Given the description of an element on the screen output the (x, y) to click on. 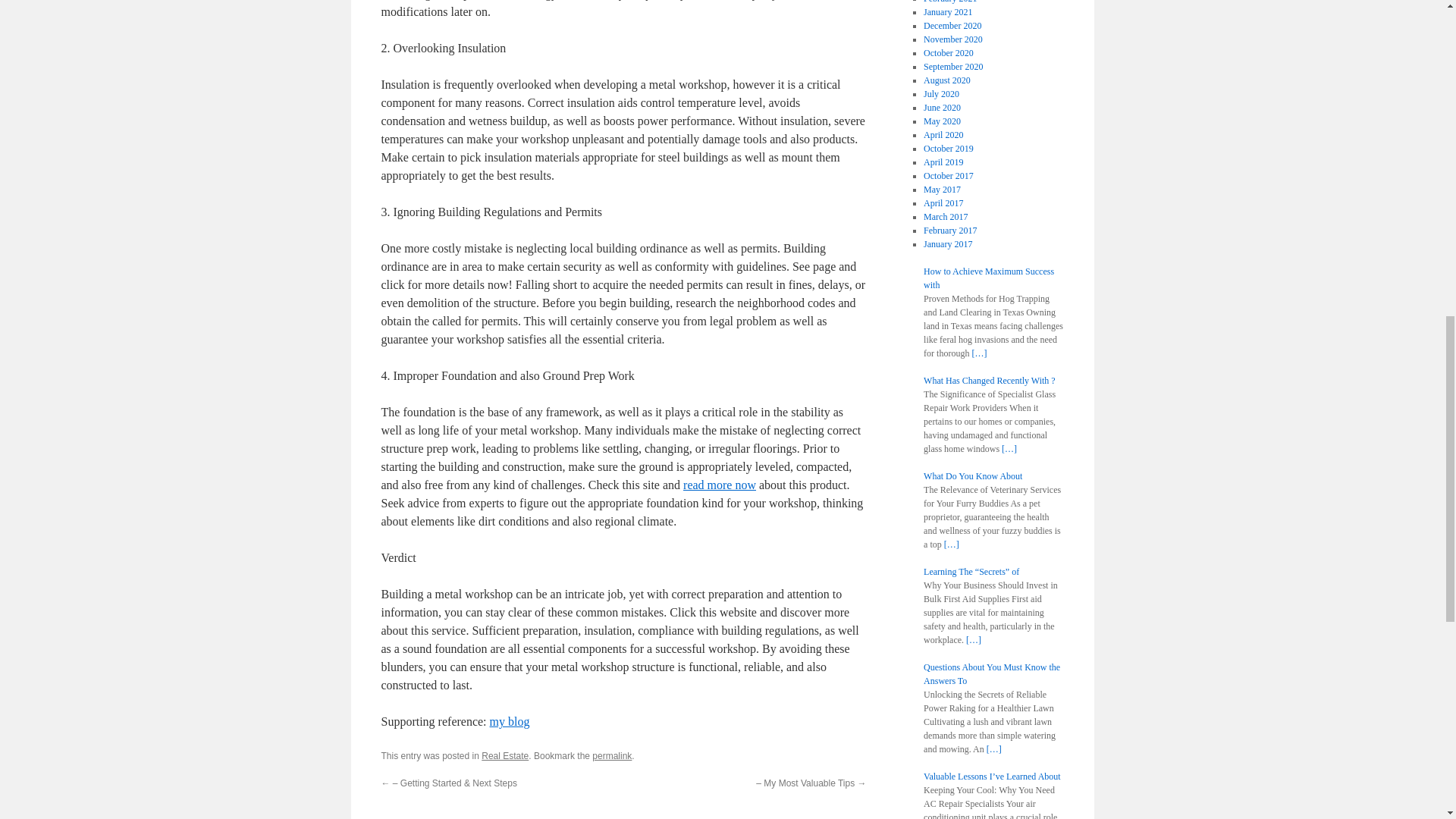
my blog (509, 721)
Real Estate (504, 756)
permalink (611, 756)
Permalink to Smart Ideas:  Revisited (611, 756)
read more now (718, 484)
